Given the description of an element on the screen output the (x, y) to click on. 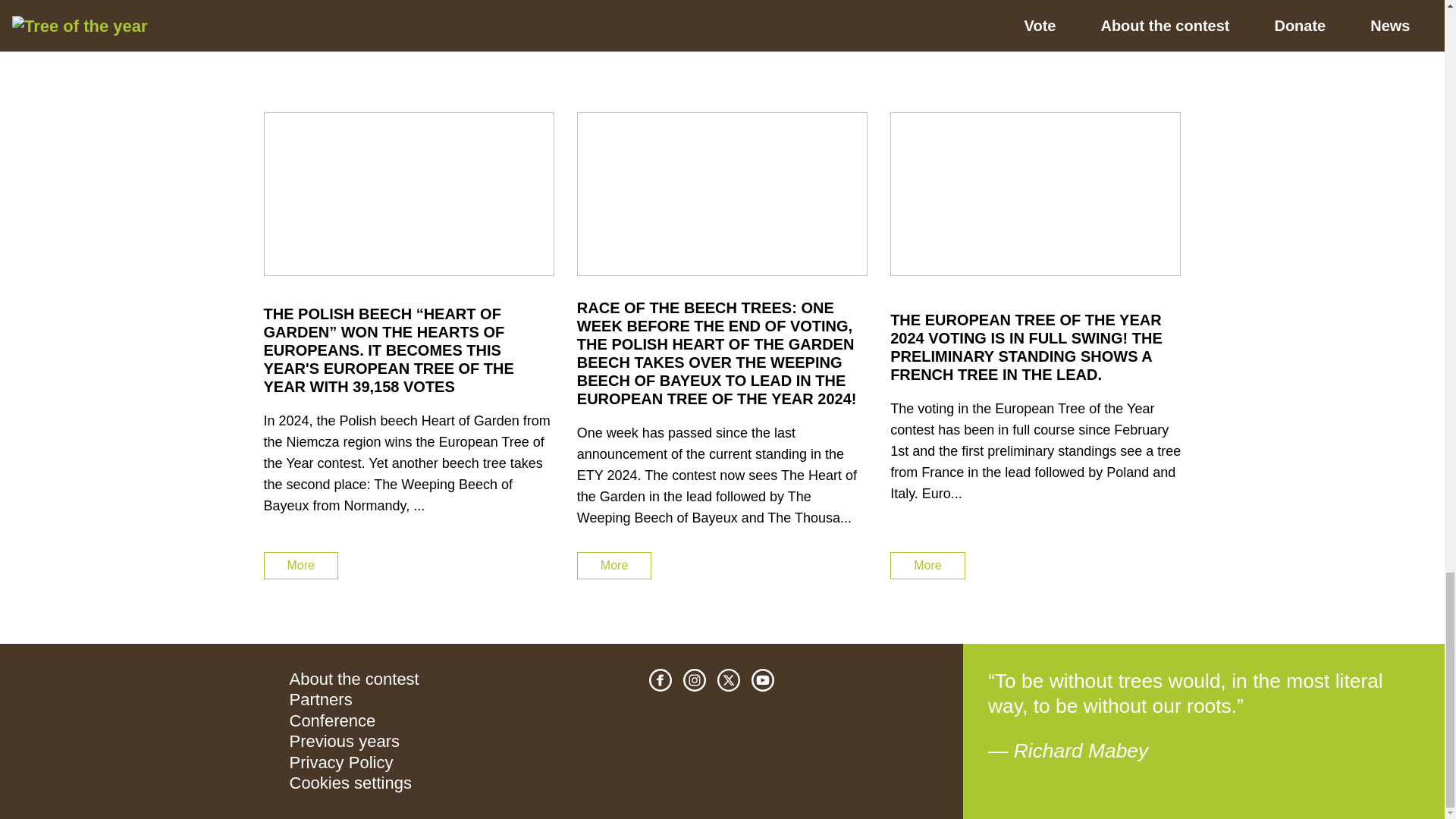
Cookies settings (350, 782)
About the contest (354, 678)
Privacy Policy (341, 762)
Previous years (344, 741)
Partners (320, 699)
Conference (332, 720)
